Given the description of an element on the screen output the (x, y) to click on. 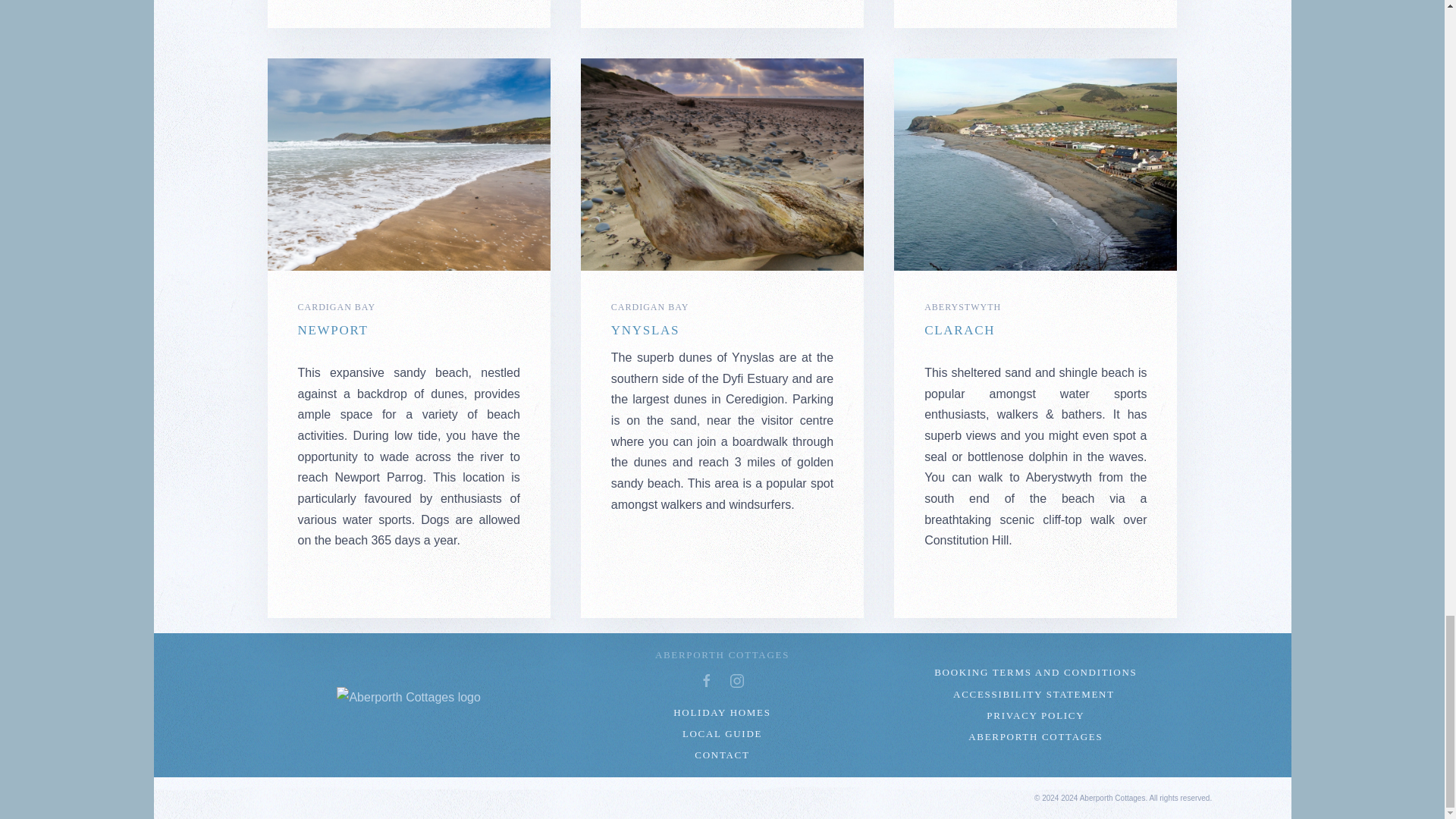
PRIVACY POLICY (1034, 715)
LOCAL GUIDE (721, 734)
ACCESSIBILITY STATEMENT  (1034, 694)
BOOKING TERMS AND CONDITIONS (1034, 672)
ABERPORTH COTTAGES (1034, 736)
CONTACT (721, 755)
HOLIDAY HOMES (721, 712)
